Given the description of an element on the screen output the (x, y) to click on. 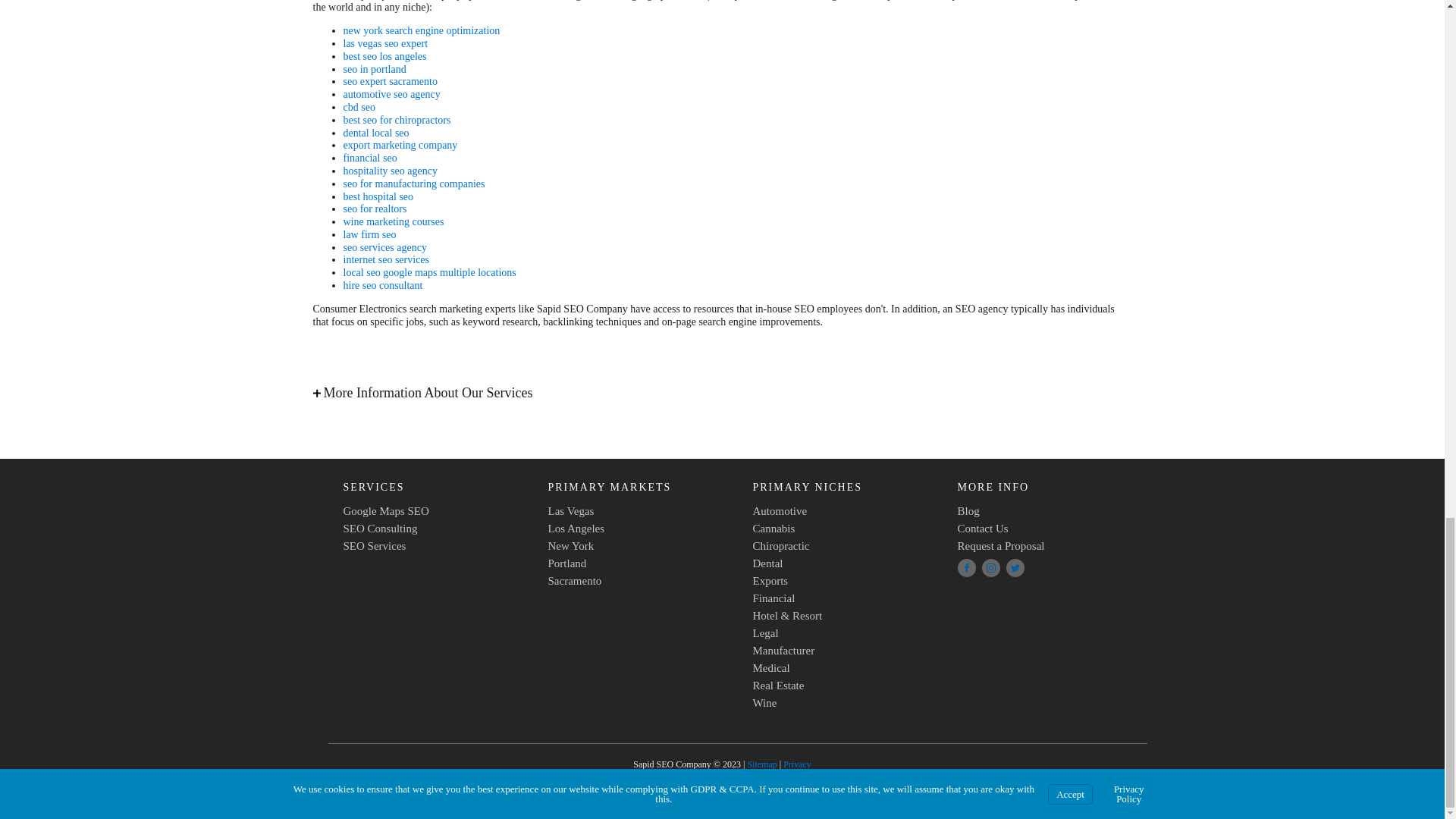
seo in portland (374, 69)
new york search engine optimization (420, 30)
hospitality seo agency (389, 170)
wine marketing courses (393, 221)
dental local seo (375, 132)
best hospital seo (377, 195)
las vegas seo expert (385, 43)
seo expert sacramento (389, 81)
seo services agency (384, 247)
export marketing company (399, 144)
